Given the description of an element on the screen output the (x, y) to click on. 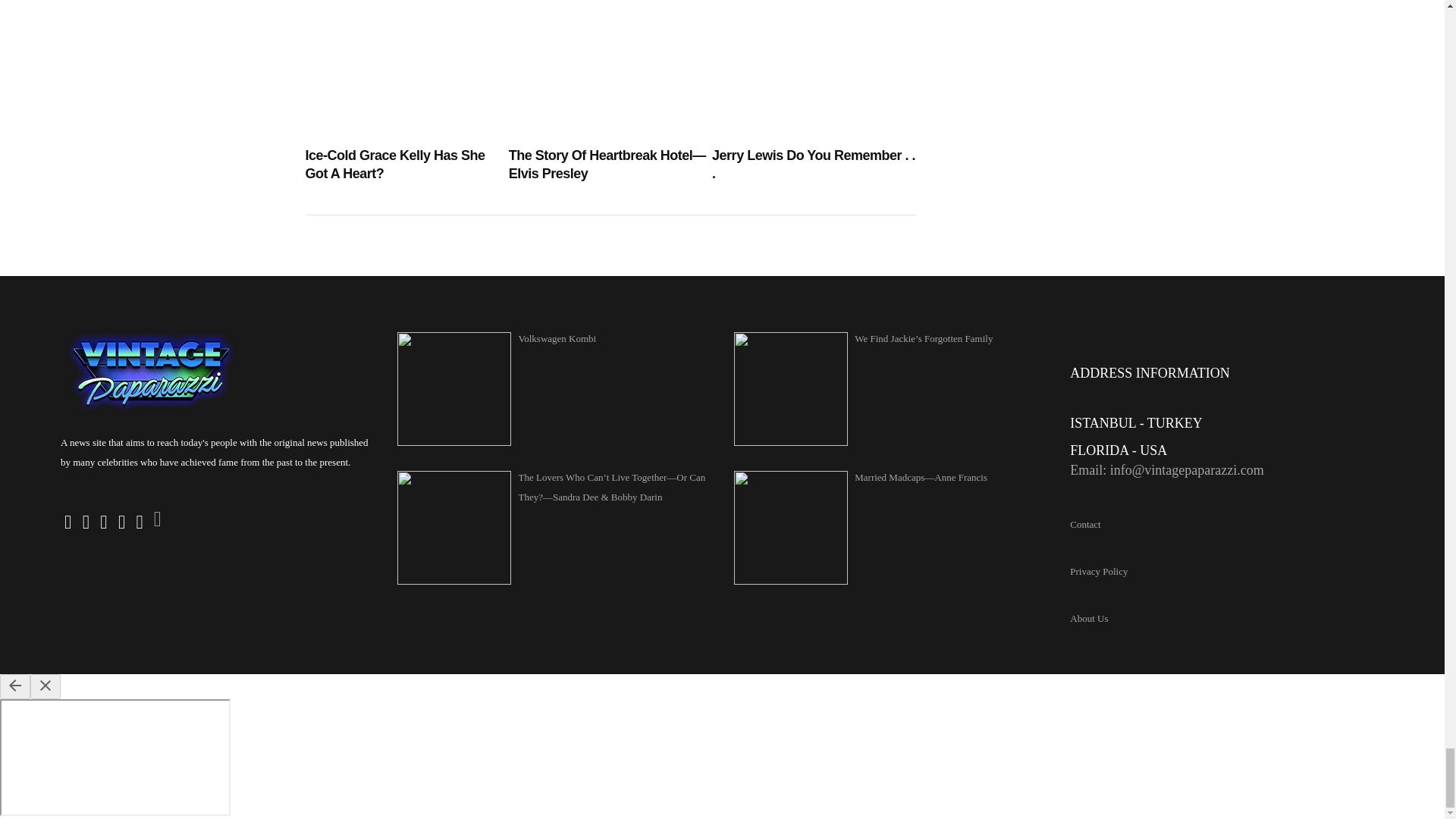
Jerry Lewis Do You Remember . . . (813, 164)
Ice-Cold Grace Kelly Has She Got A Heart? (406, 164)
